Given the description of an element on the screen output the (x, y) to click on. 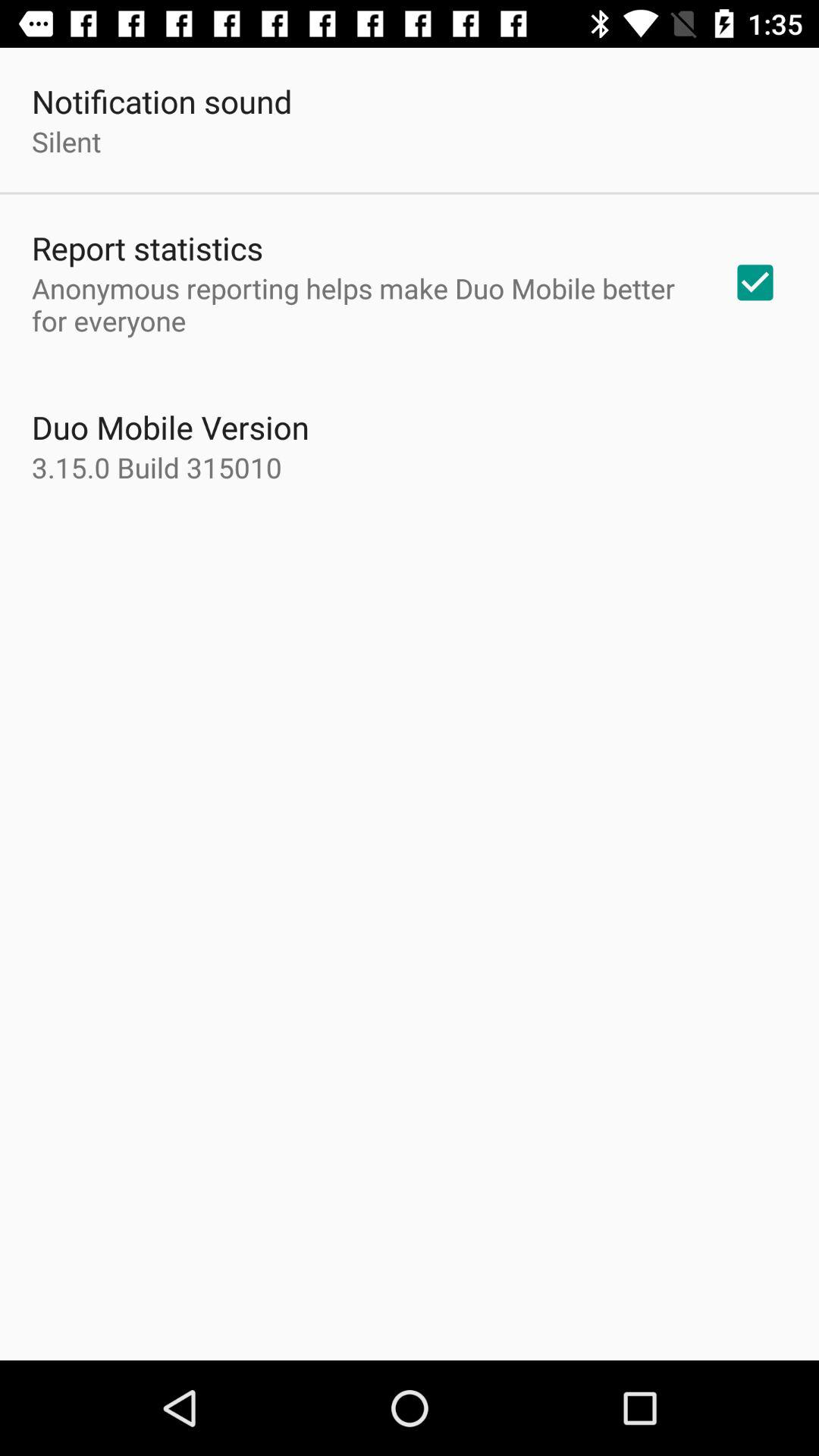
jump until the anonymous reporting helps item (361, 304)
